Given the description of an element on the screen output the (x, y) to click on. 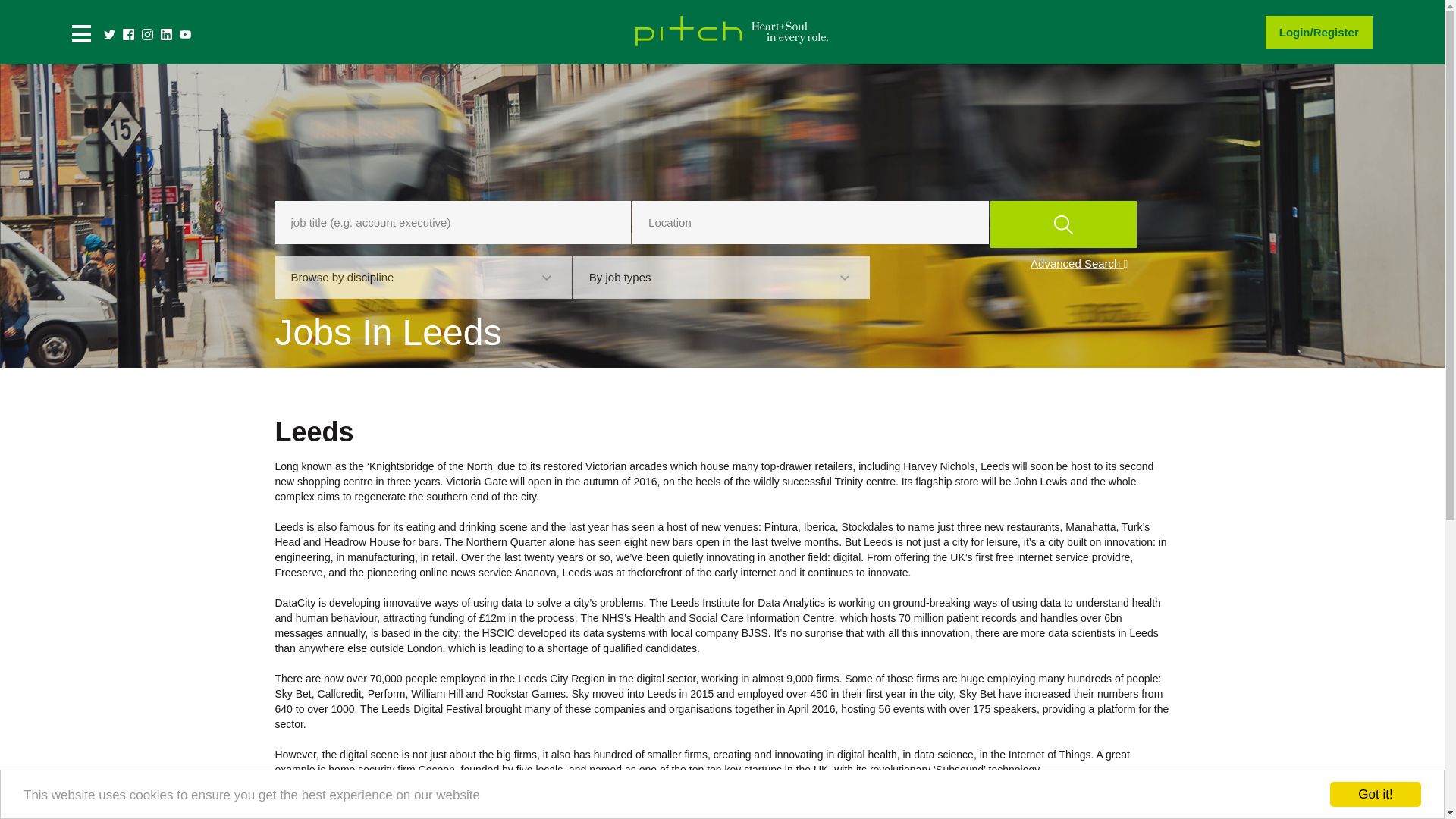
Register (1335, 31)
Go to the Homepage (729, 48)
Login (1294, 31)
